Given the description of an element on the screen output the (x, y) to click on. 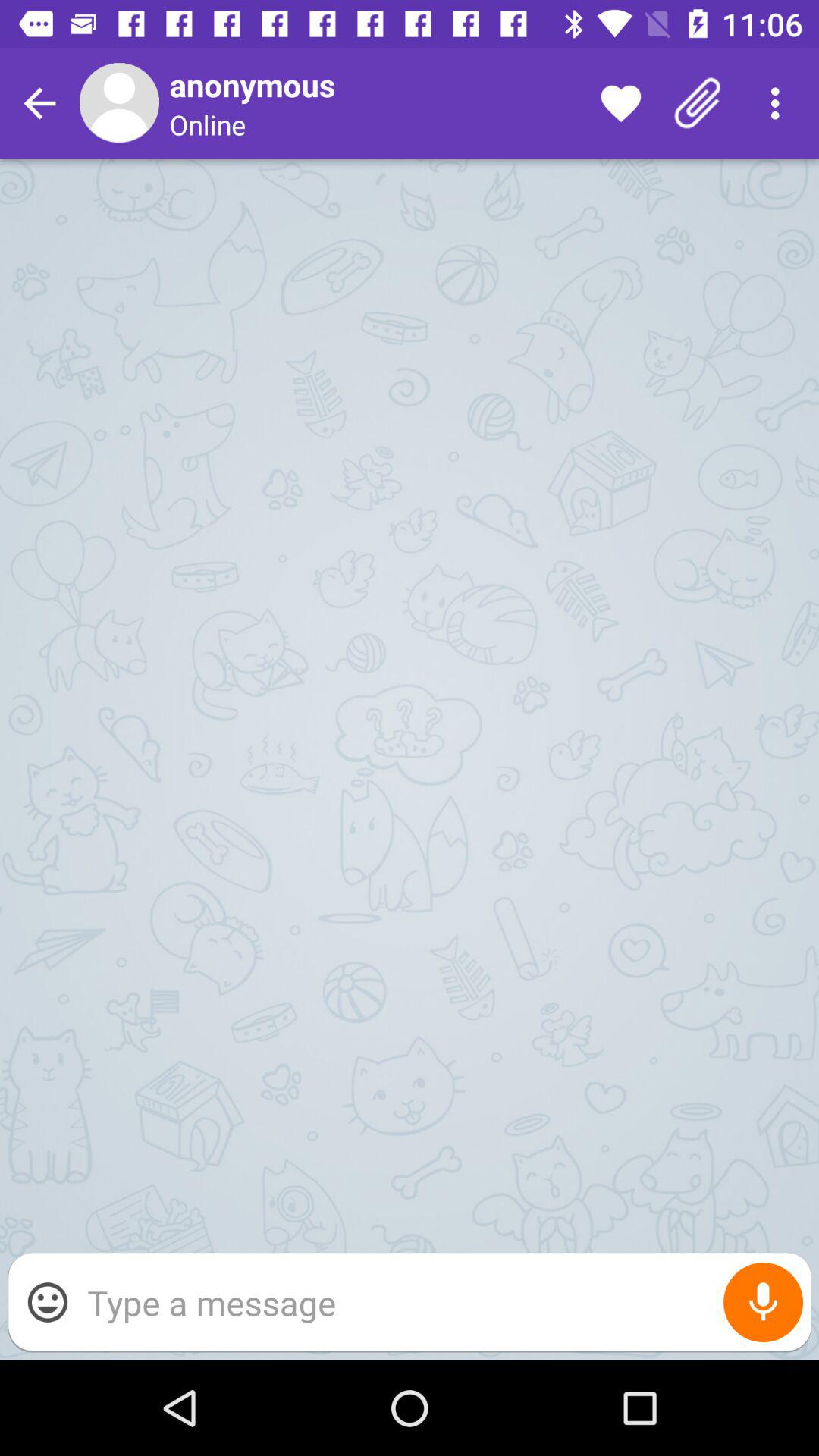
type for the message (441, 1302)
